Given the description of an element on the screen output the (x, y) to click on. 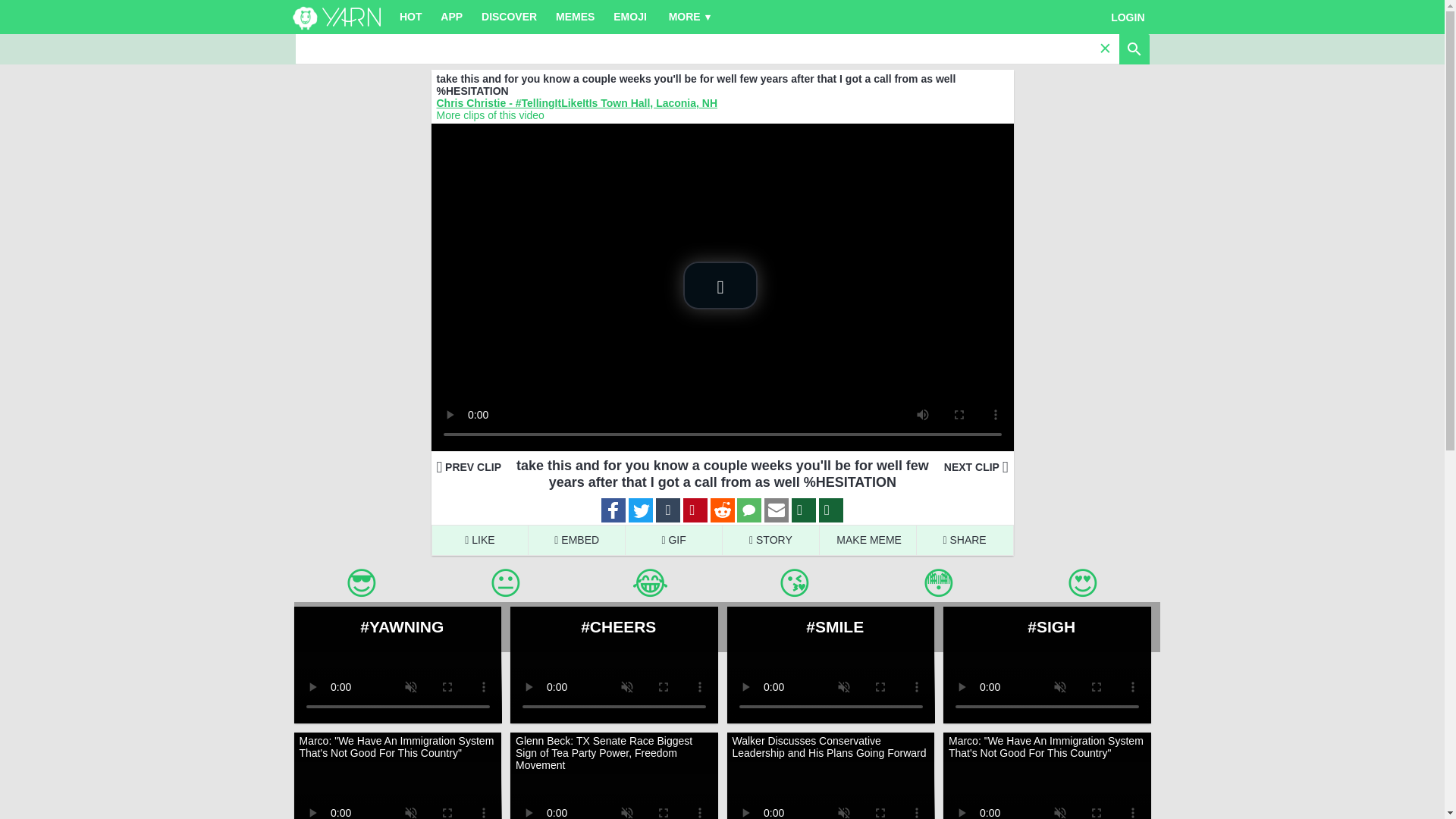
Share on Facebook (613, 510)
Previous Clip (468, 467)
EMOJI (630, 17)
GIF (673, 539)
Share on Tumblr (667, 510)
Next Clip (976, 467)
PREV CLIP (468, 467)
Copy to Clipboard (830, 510)
Share on Pinterest (694, 510)
Share via Text Message (748, 510)
